Given the description of an element on the screen output the (x, y) to click on. 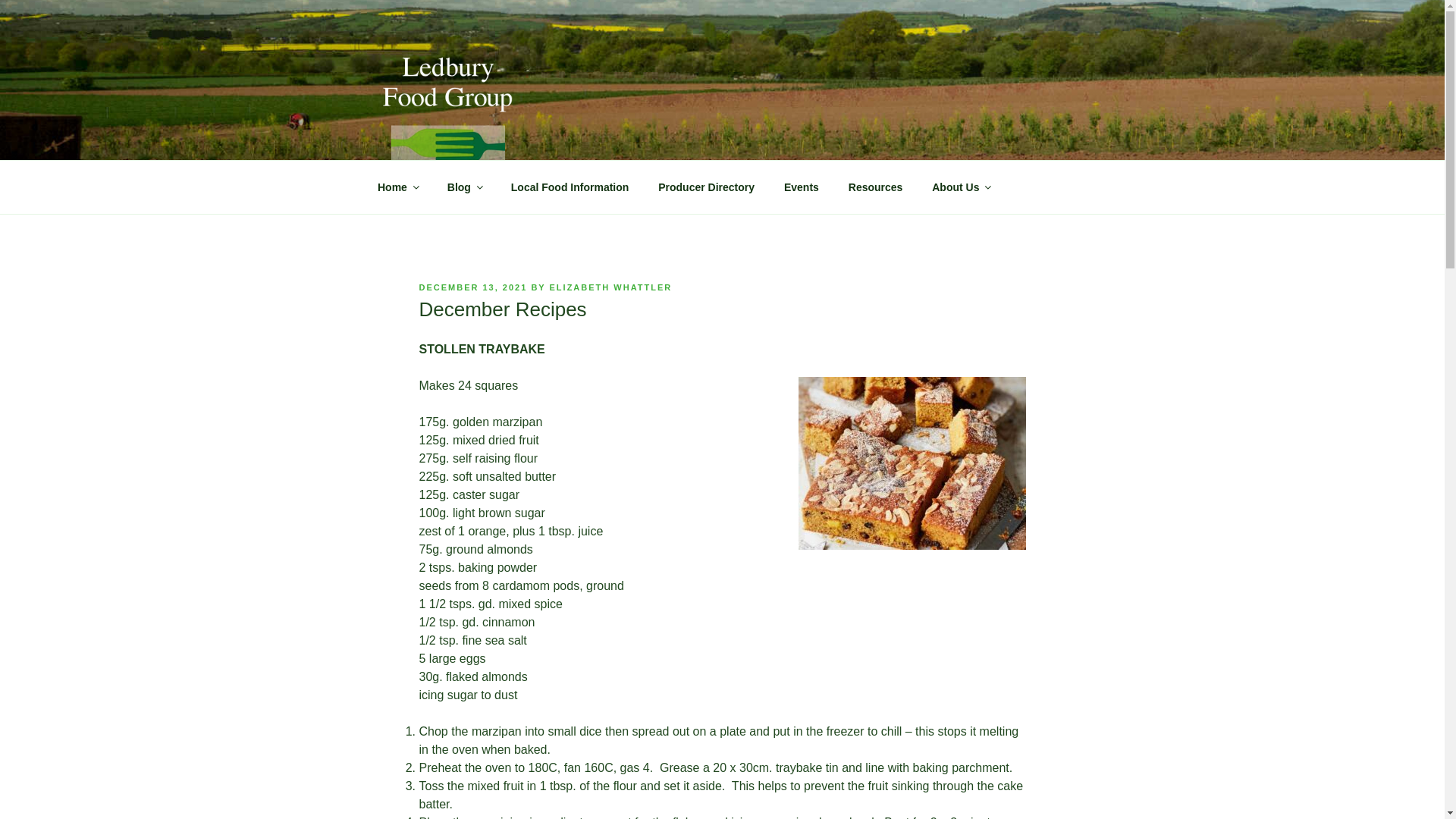
Resources (874, 186)
Events (800, 186)
Blog (464, 186)
About Us (960, 186)
Local Food Information (569, 186)
DECEMBER 13, 2021 (473, 286)
Producer Directory (706, 186)
ELIZABETH WHATTLER (611, 286)
Home (397, 186)
